Given the description of an element on the screen output the (x, y) to click on. 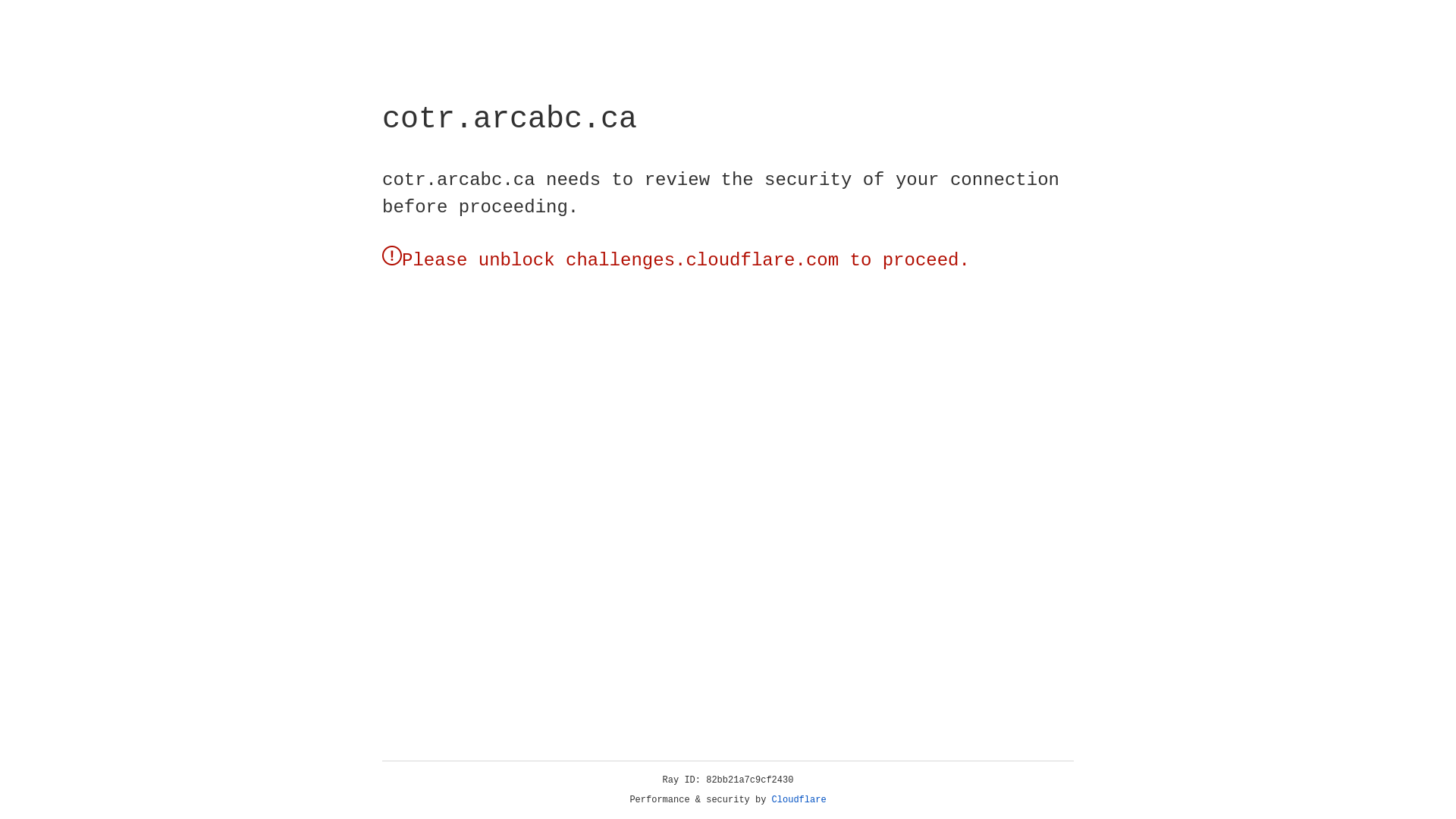
Cloudflare Element type: text (798, 799)
